Given the description of an element on the screen output the (x, y) to click on. 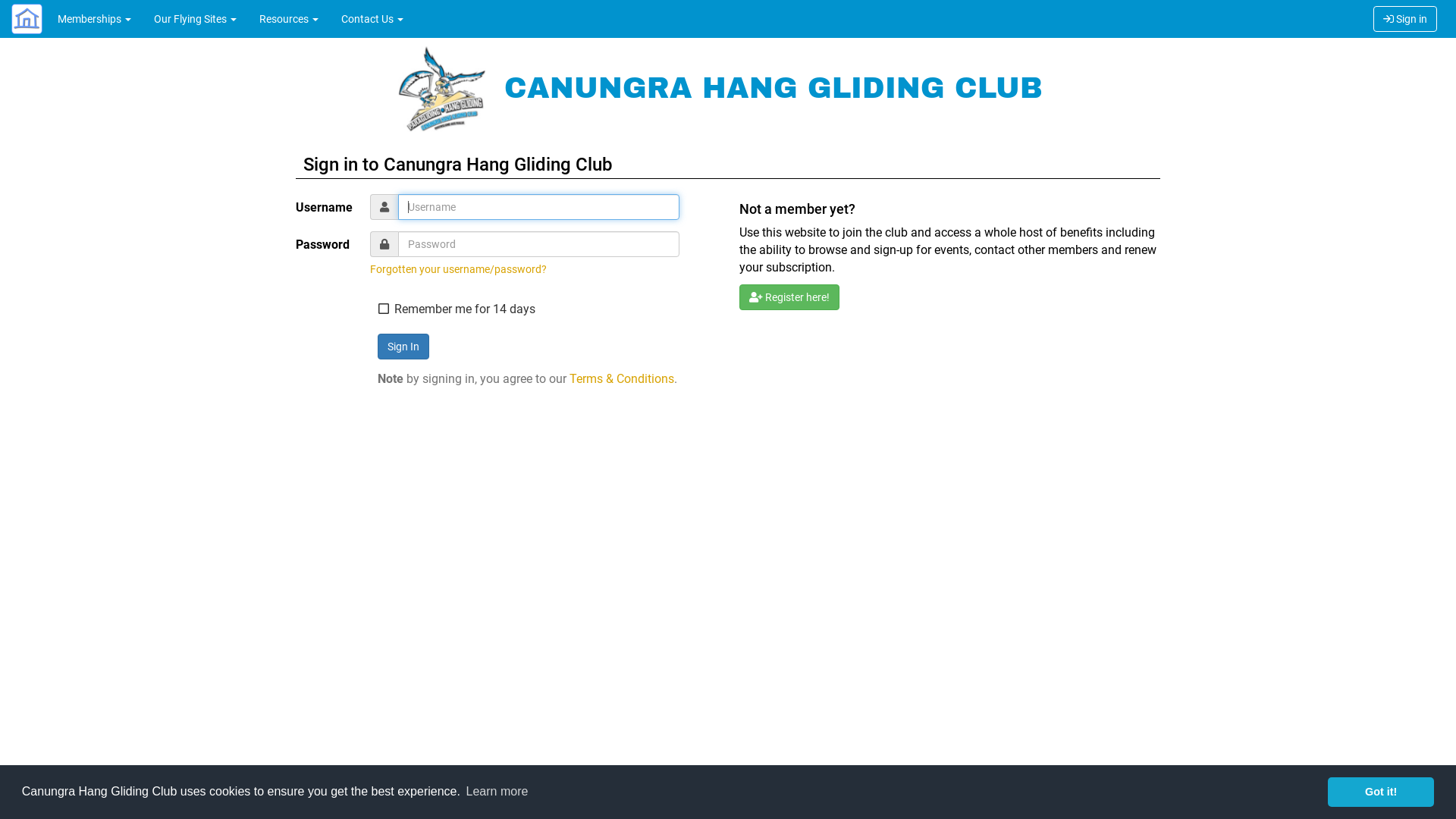
Terms & Conditions Element type: text (781, 781)
Open Source Attribution Element type: text (868, 781)
You must enter a username Element type: hover (538, 206)
Sign in Element type: text (1405, 18)
Simmetrics Ltd Element type: text (635, 781)
Home Element type: hover (23, 18)
Terms & Conditions Element type: text (620, 378)
Contact Us Element type: text (371, 18)
Memberships Element type: text (94, 18)
Register here! Element type: text (789, 297)
You must enter a password Element type: hover (538, 244)
CHGC Main Website Element type: hover (443, 87)
Got it! Element type: text (1380, 791)
Learn more Element type: text (496, 791)
Privacy Policy Element type: text (939, 793)
Forgotten your username/password? Element type: text (458, 269)
Our Flying Sites Element type: text (194, 18)
Sign In Element type: text (403, 346)
Resources Element type: text (288, 18)
